Given the description of an element on the screen output the (x, y) to click on. 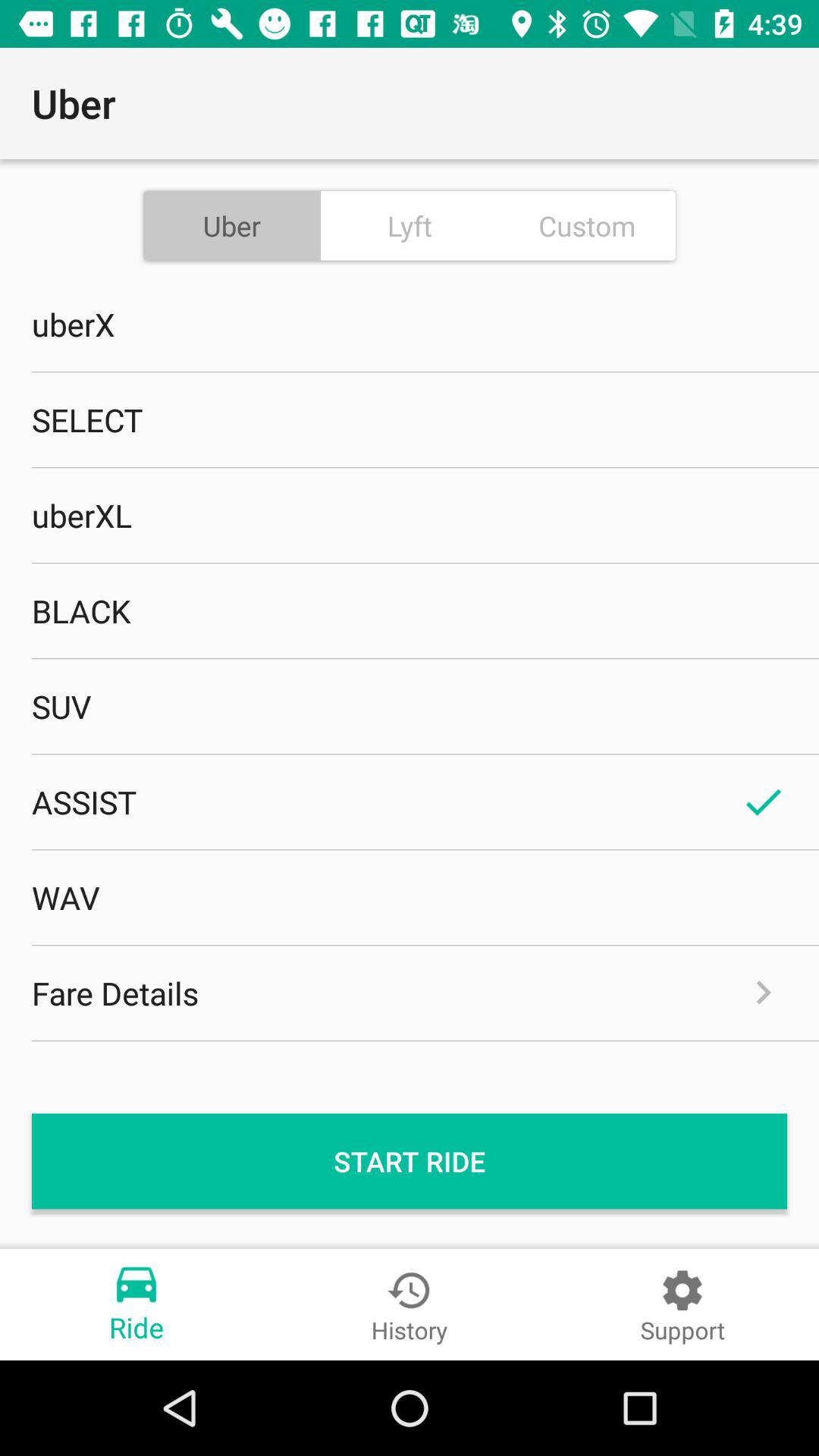
jump until uberx icon (409, 323)
